Given the description of an element on the screen output the (x, y) to click on. 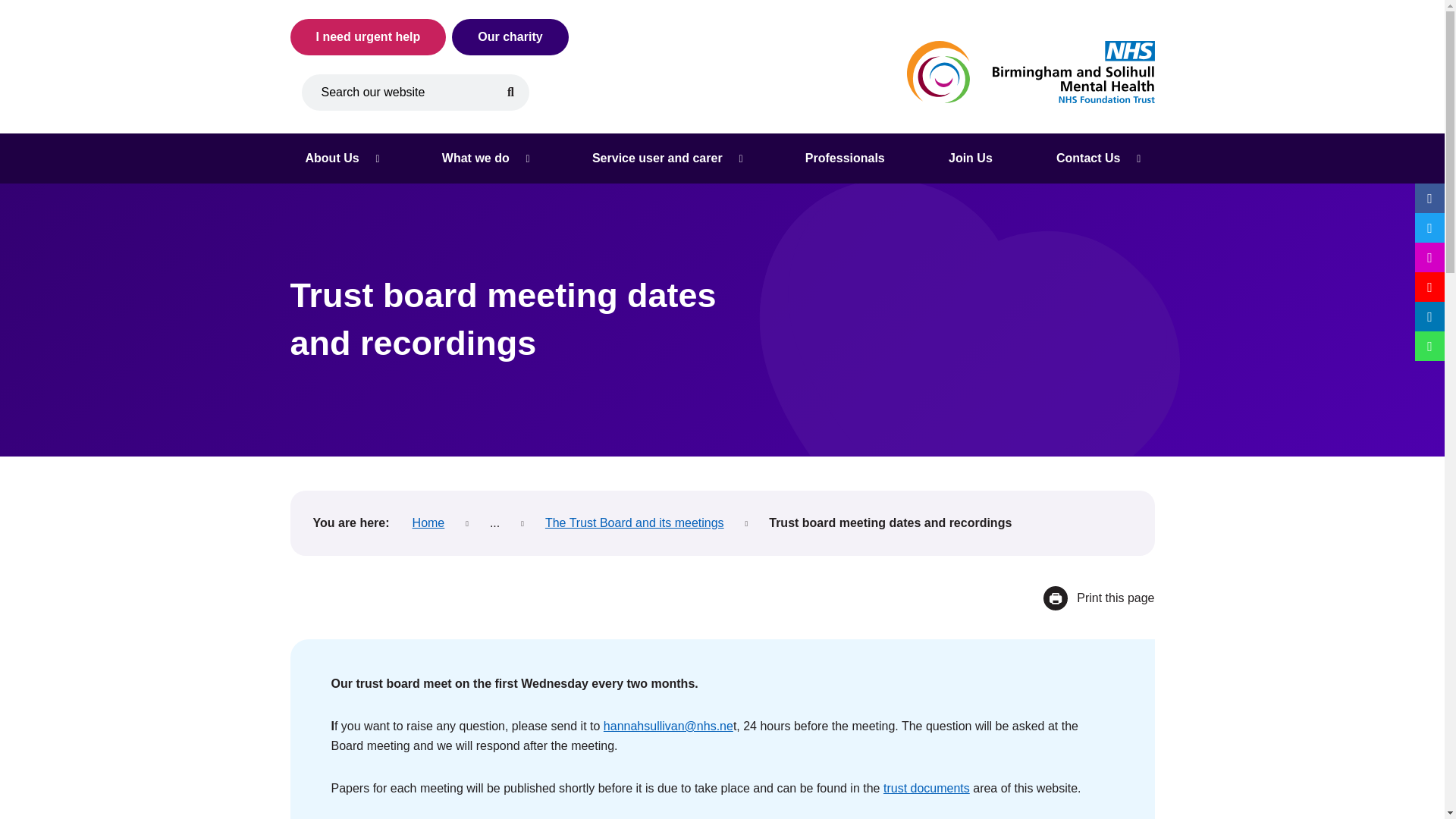
Search (511, 92)
Our charity (509, 36)
About Us (341, 158)
What we do (484, 158)
Trust documents (926, 788)
I need urgent help (367, 36)
